Given the description of an element on the screen output the (x, y) to click on. 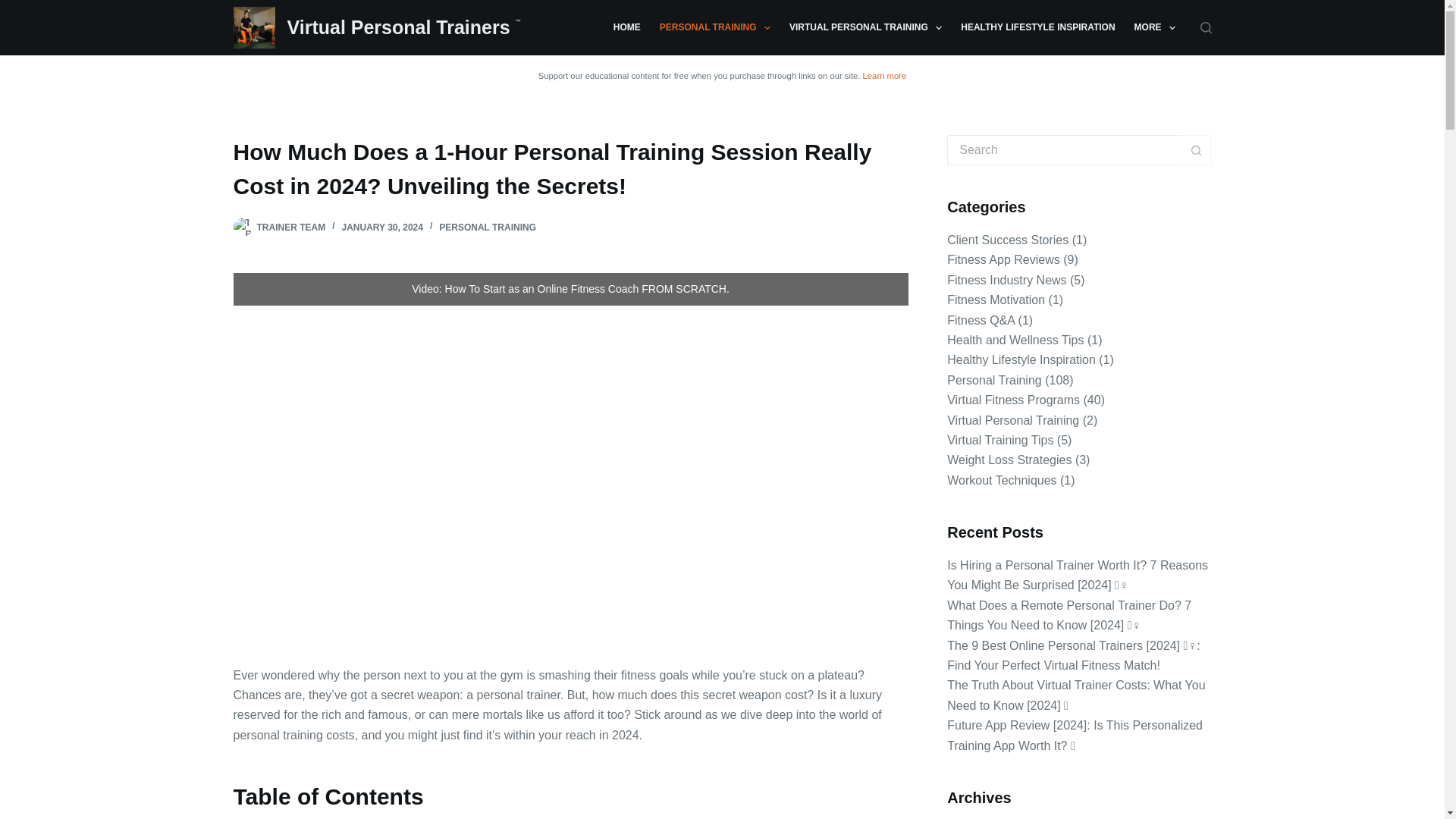
Skip to content (15, 7)
PERSONAL TRAINING (713, 27)
VIRTUAL PERSONAL TRAINING (864, 27)
Posts by Trainer Team (290, 226)
PERSONAL TRAINING (487, 226)
Search for... (1063, 150)
Virtual Personal Trainers (400, 26)
Learn more (885, 75)
MORE (1154, 27)
HOME (626, 27)
TRAINER TEAM (290, 226)
HEALTHY LIFESTYLE INSPIRATION (1038, 27)
